Given the description of an element on the screen output the (x, y) to click on. 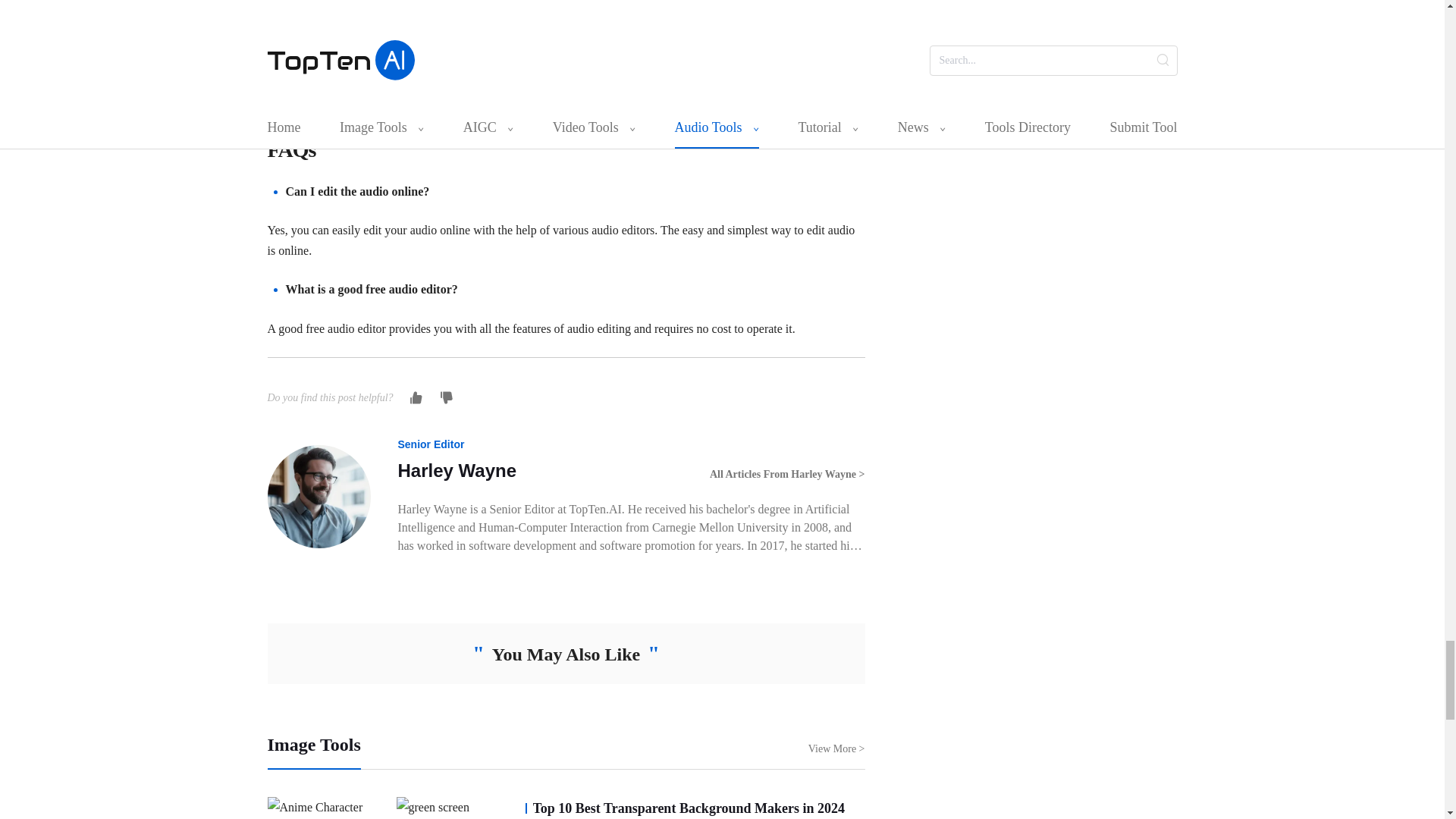
Harley Wayne (456, 470)
